Given the description of an element on the screen output the (x, y) to click on. 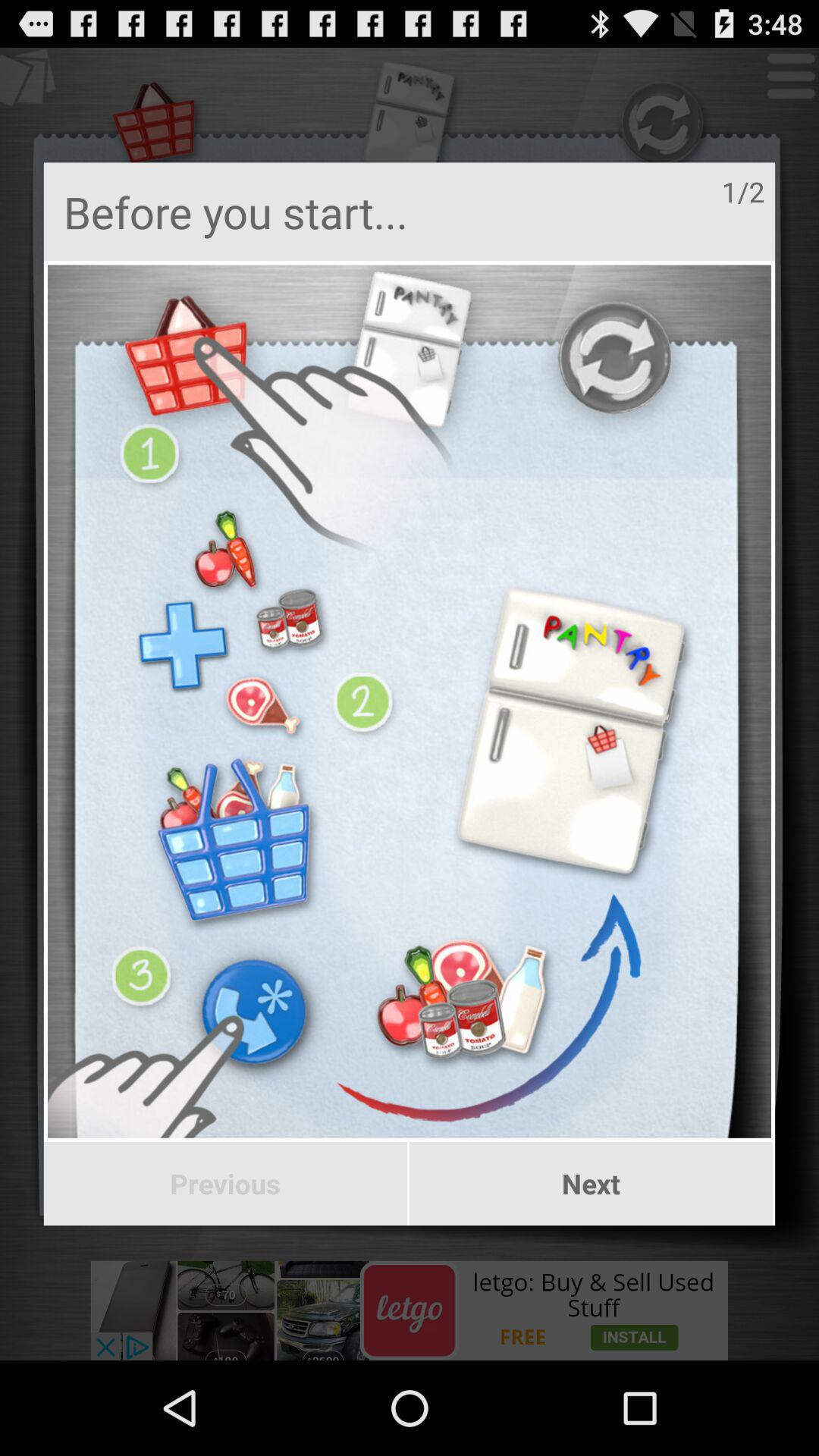
choose the icon next to the next item (225, 1183)
